Given the description of an element on the screen output the (x, y) to click on. 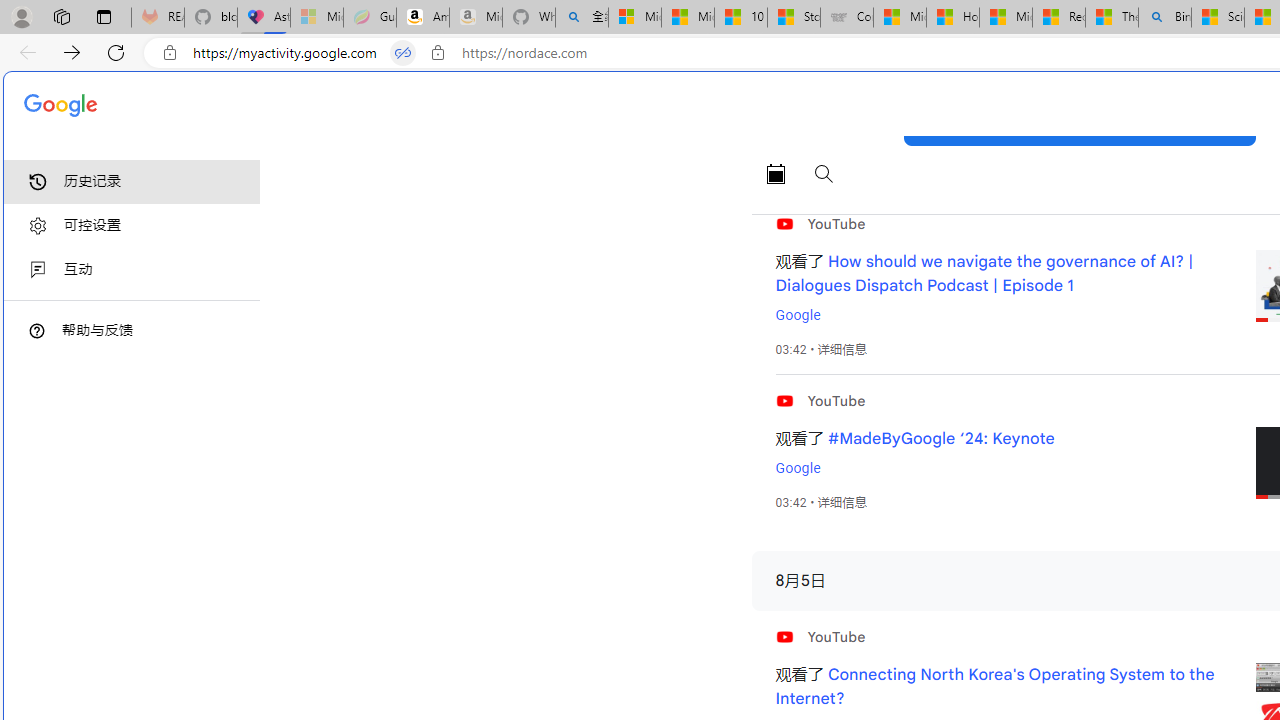
Class: DTiKkd NMm5M (37, 330)
